Given the description of an element on the screen output the (x, y) to click on. 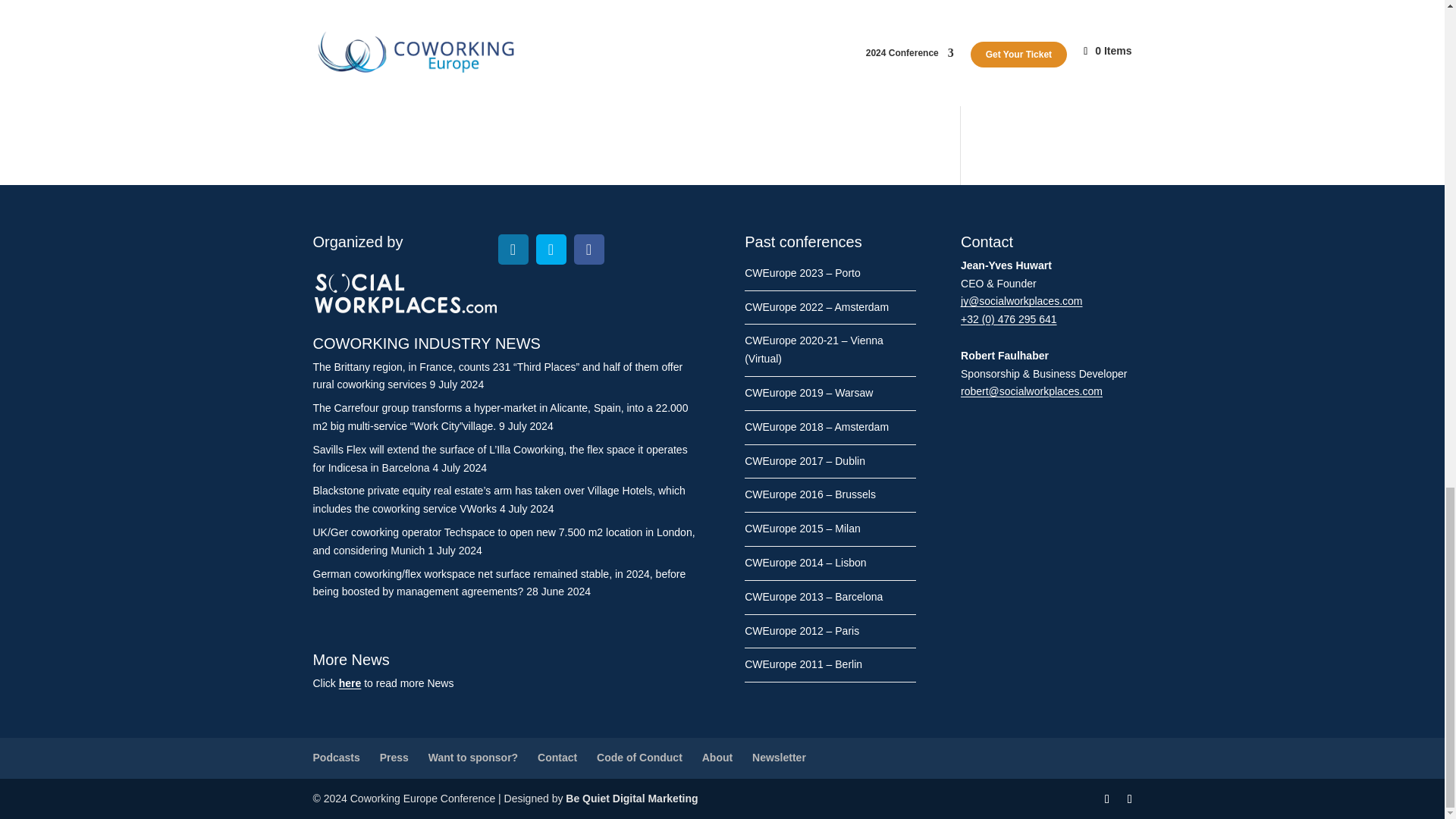
Follow on LinkedIn (512, 249)
Follow on Facebook (588, 249)
Follow on Twitter (550, 249)
here (350, 683)
